Given the description of an element on the screen output the (x, y) to click on. 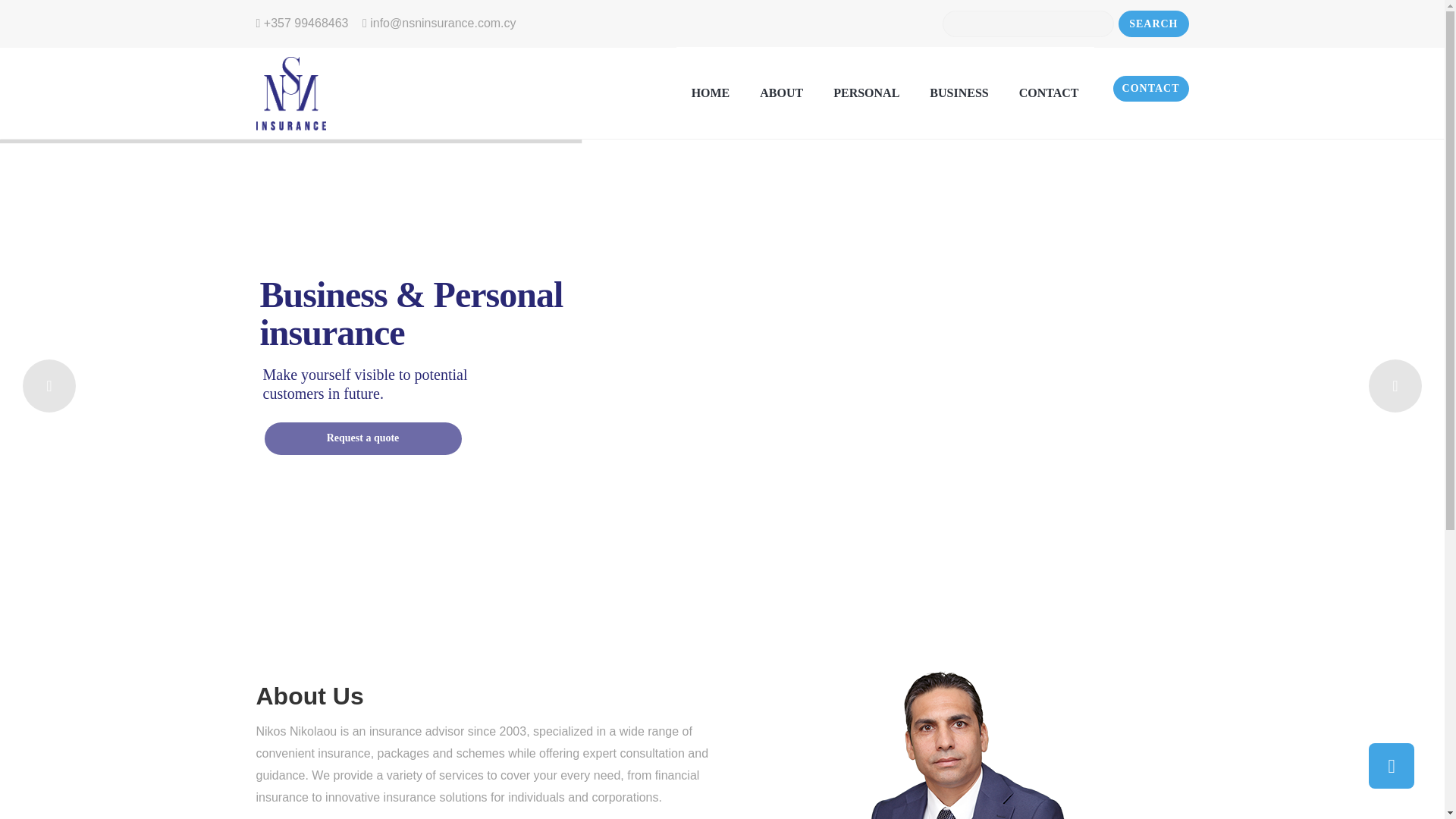
PERSONAL (866, 92)
ABOUT (781, 92)
SEARCH (1153, 23)
NsnInsurance (291, 92)
CONTACT (1049, 92)
BUSINESS (958, 92)
HOME (711, 92)
CONTACT (1151, 88)
Request a quote (362, 437)
